Given the description of an element on the screen output the (x, y) to click on. 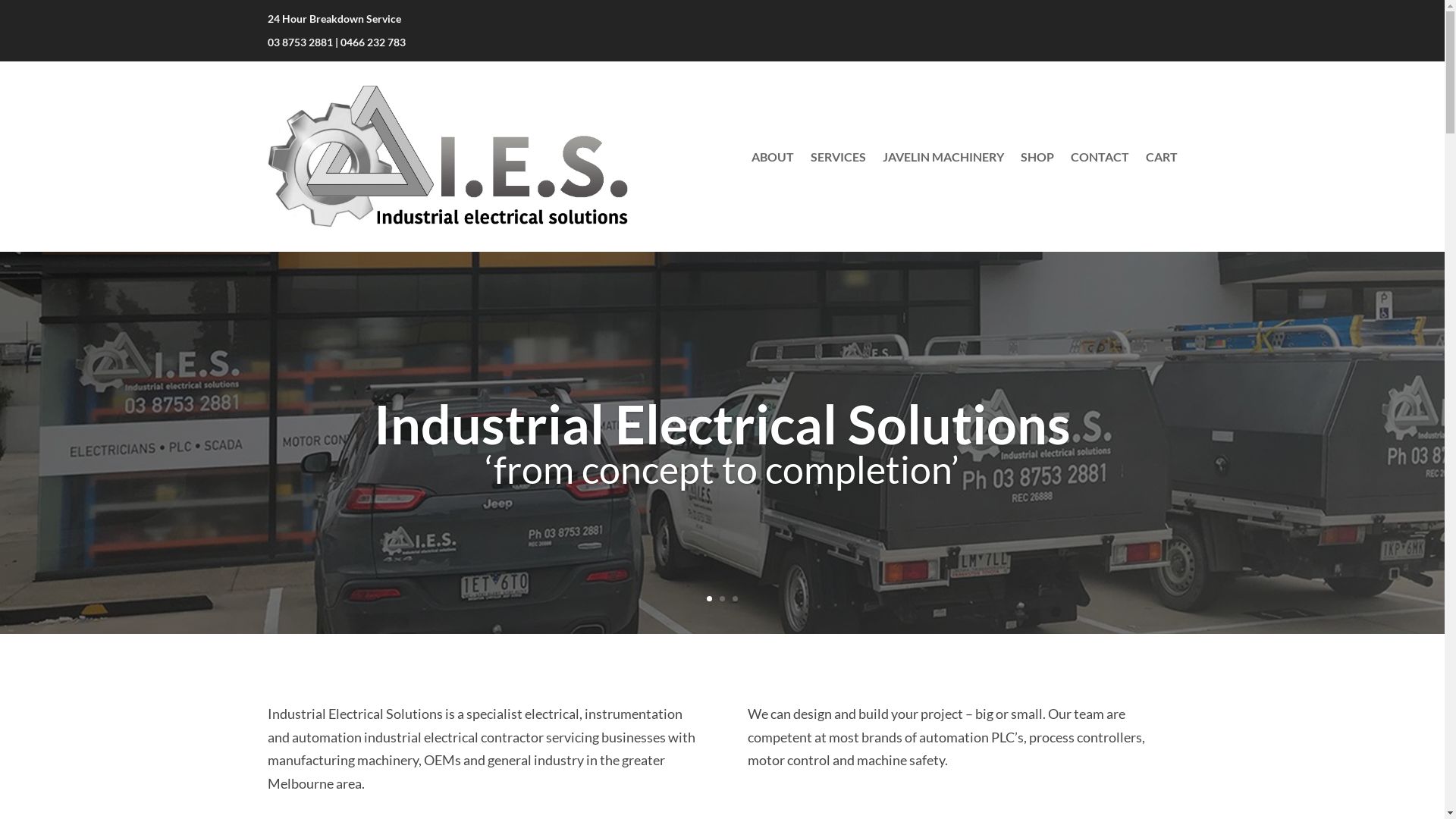
CART Element type: text (1160, 156)
1 Element type: text (709, 598)
SHOP Element type: text (1037, 156)
3 Element type: text (734, 598)
2 Element type: text (721, 598)
JAVELIN MACHINERY Element type: text (943, 156)
SERVICES Element type: text (837, 156)
ABOUT Element type: text (771, 156)
CONTACT Element type: text (1099, 156)
